Given the description of an element on the screen output the (x, y) to click on. 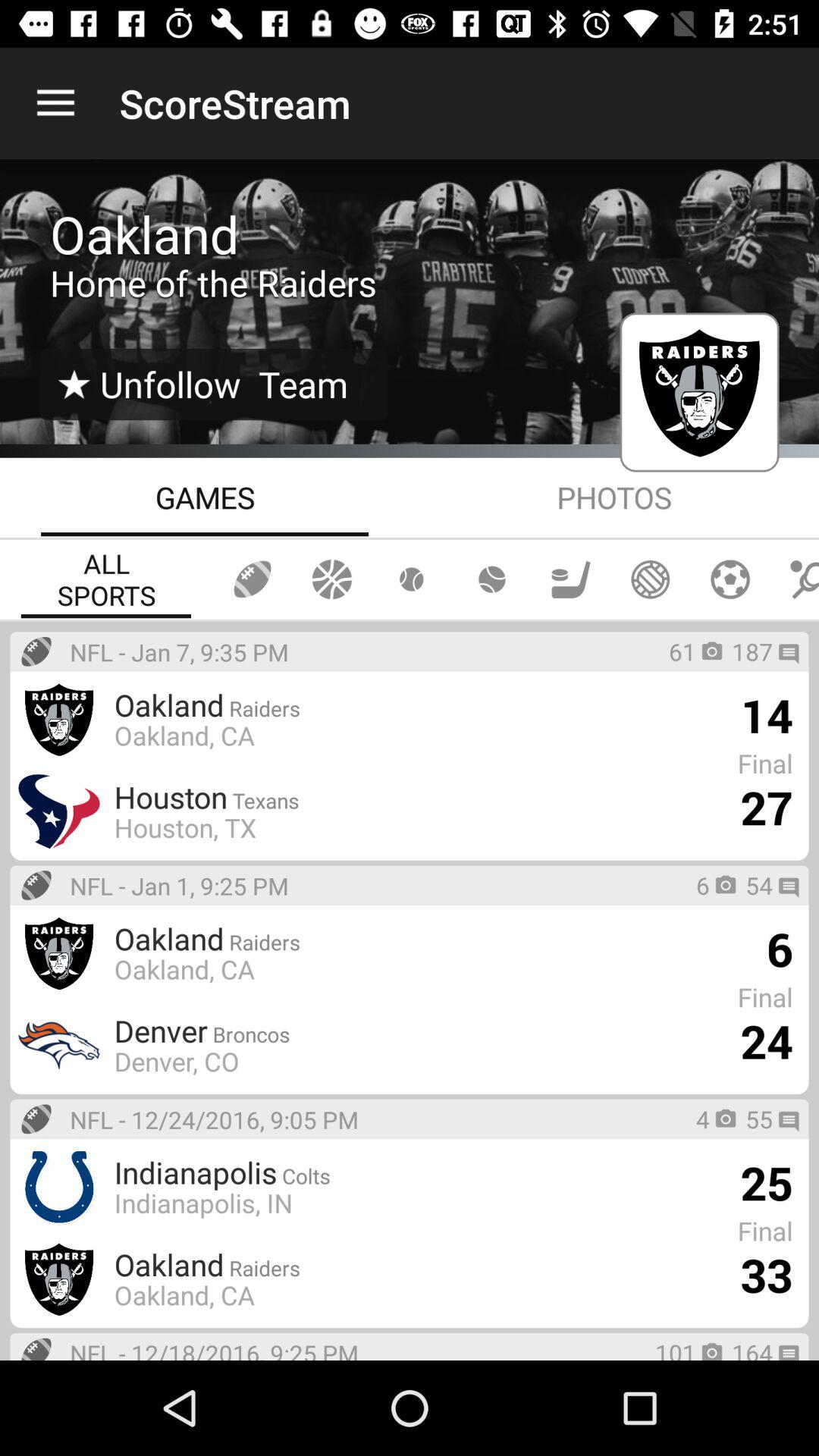
choose the icon to the left of 27 (185, 827)
